Given the description of an element on the screen output the (x, y) to click on. 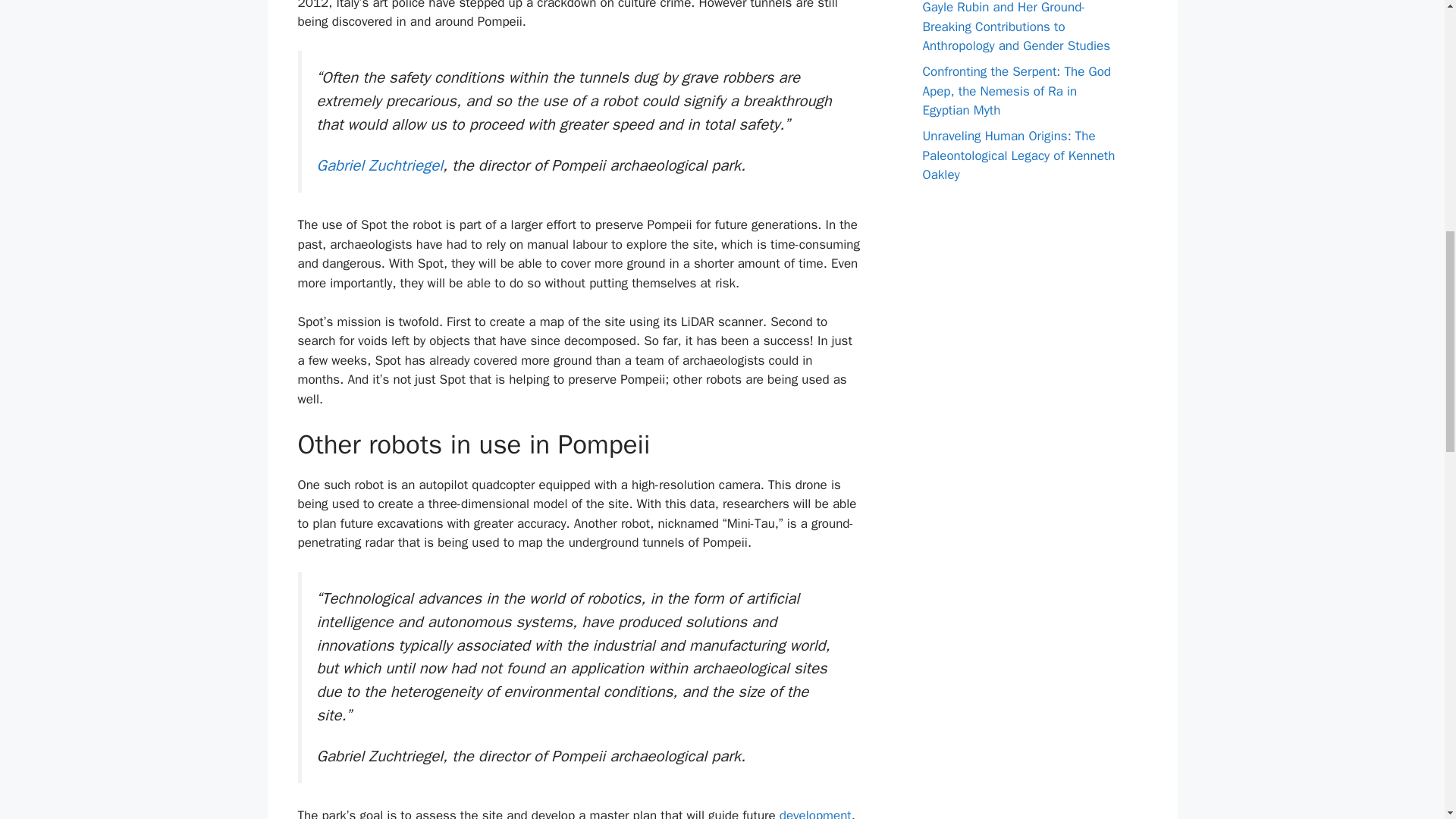
development (814, 813)
Gabriel Zuchtriegel (380, 165)
